Given the description of an element on the screen output the (x, y) to click on. 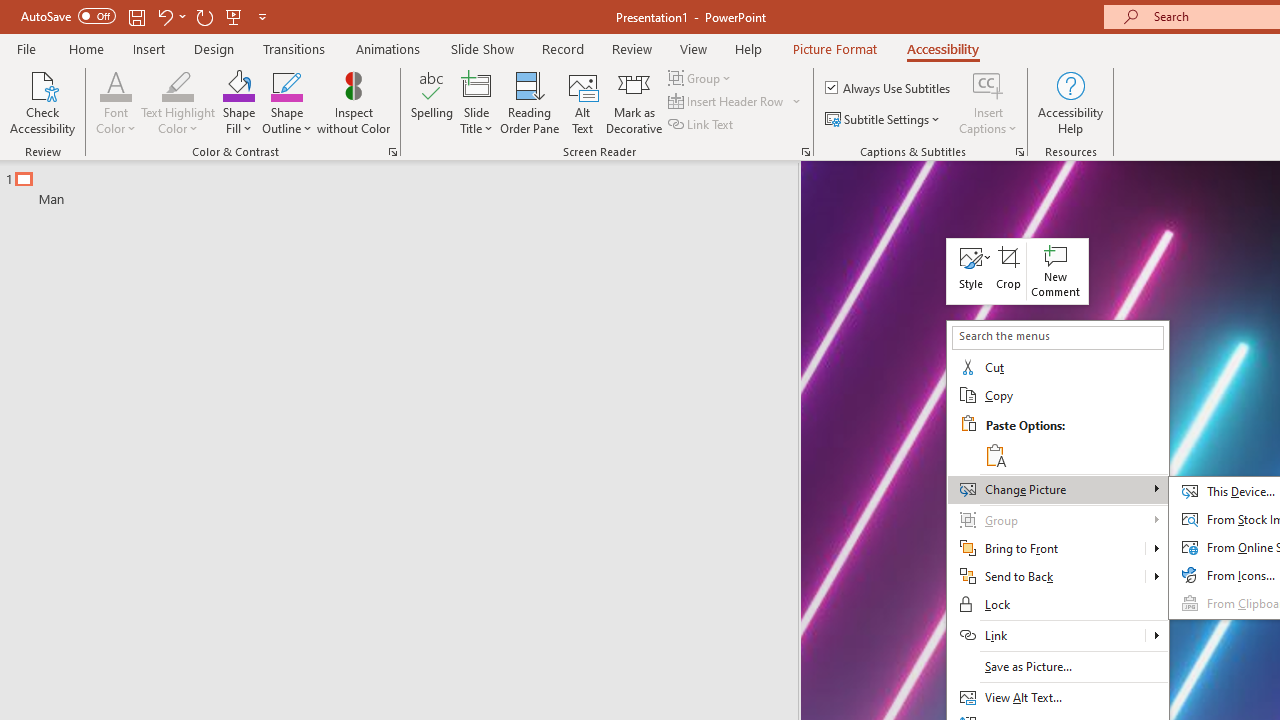
Picture Format (834, 48)
Crop (1009, 270)
Subtitle Settings (884, 119)
Bring to Front (1156, 548)
Change Picture (1057, 489)
Send to Back (1057, 577)
Send to Back (1046, 577)
Style (970, 270)
